Given the description of an element on the screen output the (x, y) to click on. 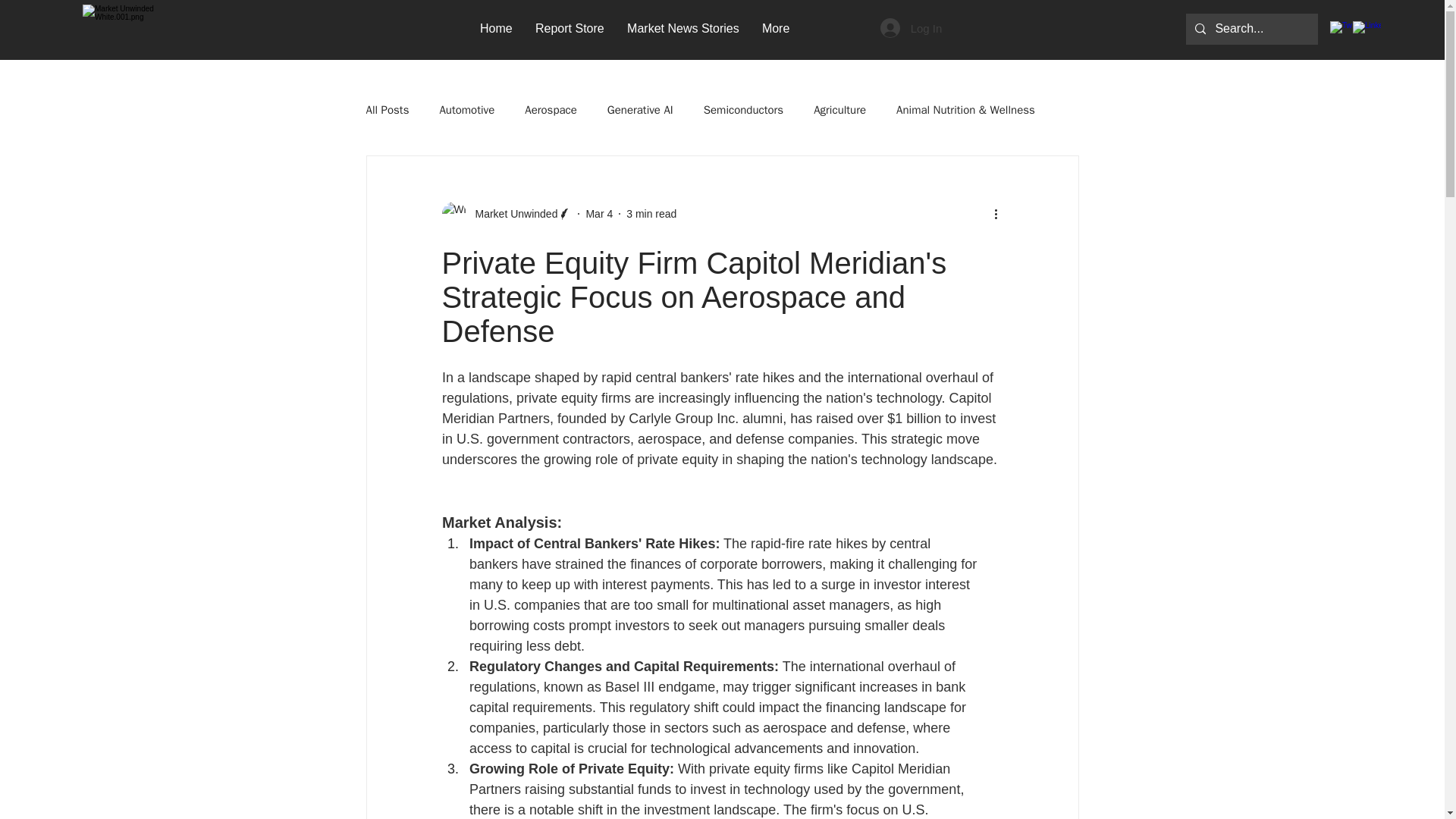
Market Unwinded (511, 213)
Aerospace (550, 110)
All Posts (387, 110)
Market Unwinded Logo.png (140, 29)
Market Unwinded (506, 213)
Semiconductors (743, 110)
Home (496, 27)
Generative AI (639, 110)
Automotive (467, 110)
3 min read (651, 214)
Report Store (569, 27)
Mar 4 (598, 214)
Log In (911, 27)
Agriculture (839, 110)
Market News Stories (683, 27)
